Given the description of an element on the screen output the (x, y) to click on. 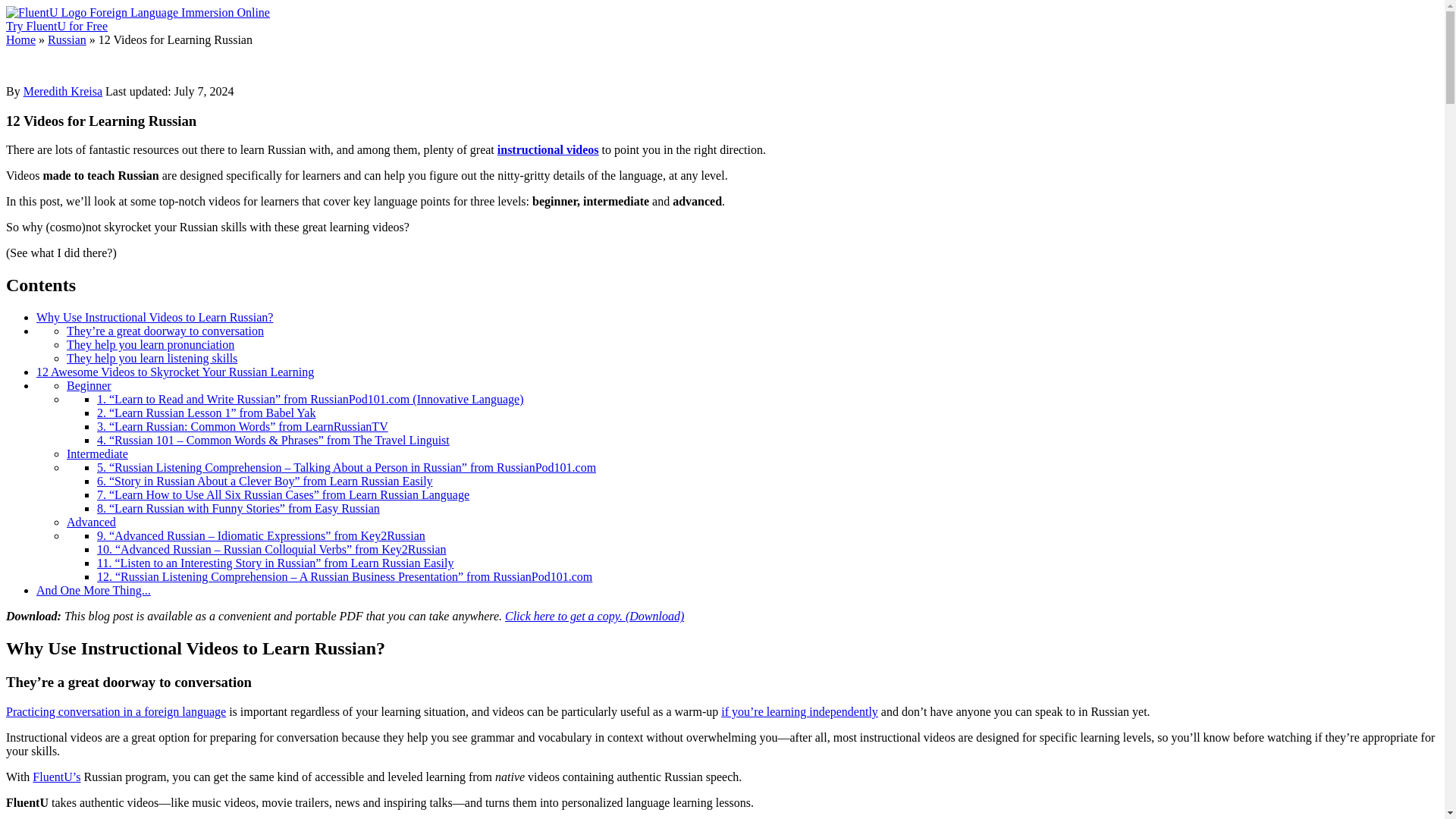
instructional videos (547, 149)
12 Awesome Videos to Skyrocket Your Russian Learning (175, 371)
Foreign Language Immersion Online (178, 11)
They help you learn listening skills (151, 358)
To homepage (46, 11)
Intermediate (97, 453)
Try FluentU for Free (56, 25)
Home (19, 39)
Advanced (91, 521)
And One More Thing... (93, 590)
Practicing conversation in a foreign language (115, 711)
Why Use Instructional Videos to Learn Russian? (154, 317)
Meredith Kreisa (62, 91)
Beginner (89, 385)
Russian (66, 39)
